Given the description of an element on the screen output the (x, y) to click on. 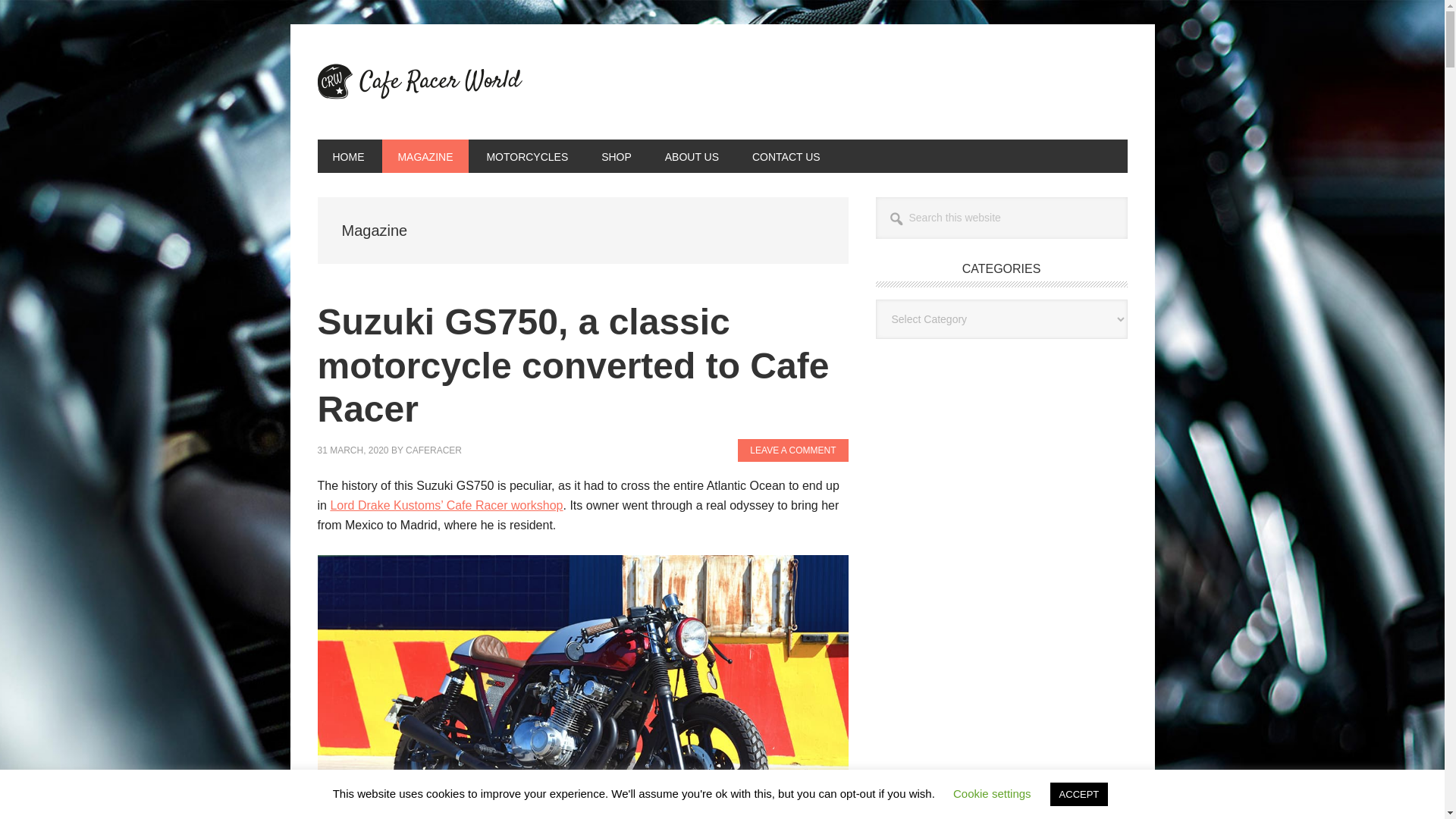
SHOP (616, 155)
MOTORCYCLES (526, 155)
CONTACT US (785, 155)
MAGAZINE (424, 155)
LEAVE A COMMENT (792, 449)
ABOUT US (691, 155)
Suzuki GS750, a classic motorcycle converted to Cafe Racer (572, 365)
HOME (347, 155)
CAFE RACER WORLD (419, 81)
CAFERACER (433, 450)
